Given the description of an element on the screen output the (x, y) to click on. 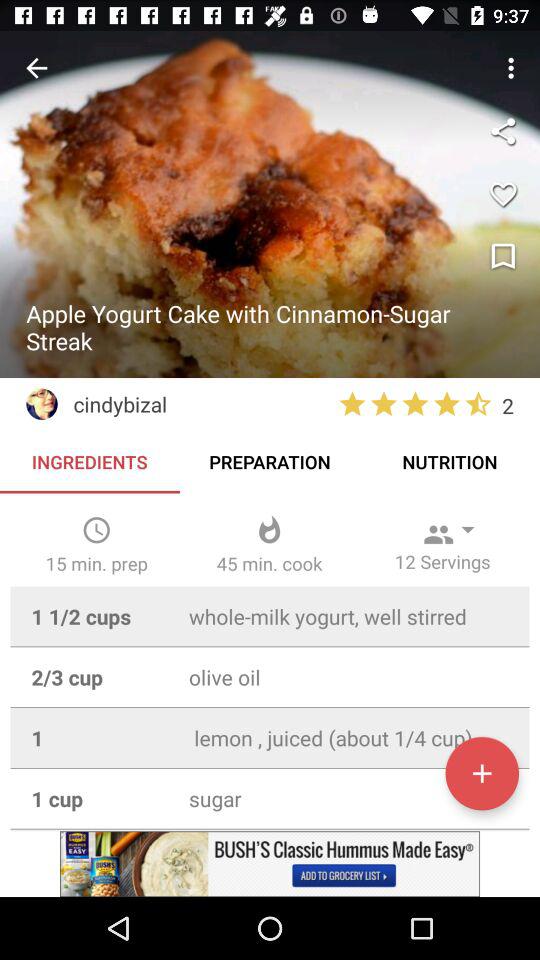
go back (36, 68)
